Given the description of an element on the screen output the (x, y) to click on. 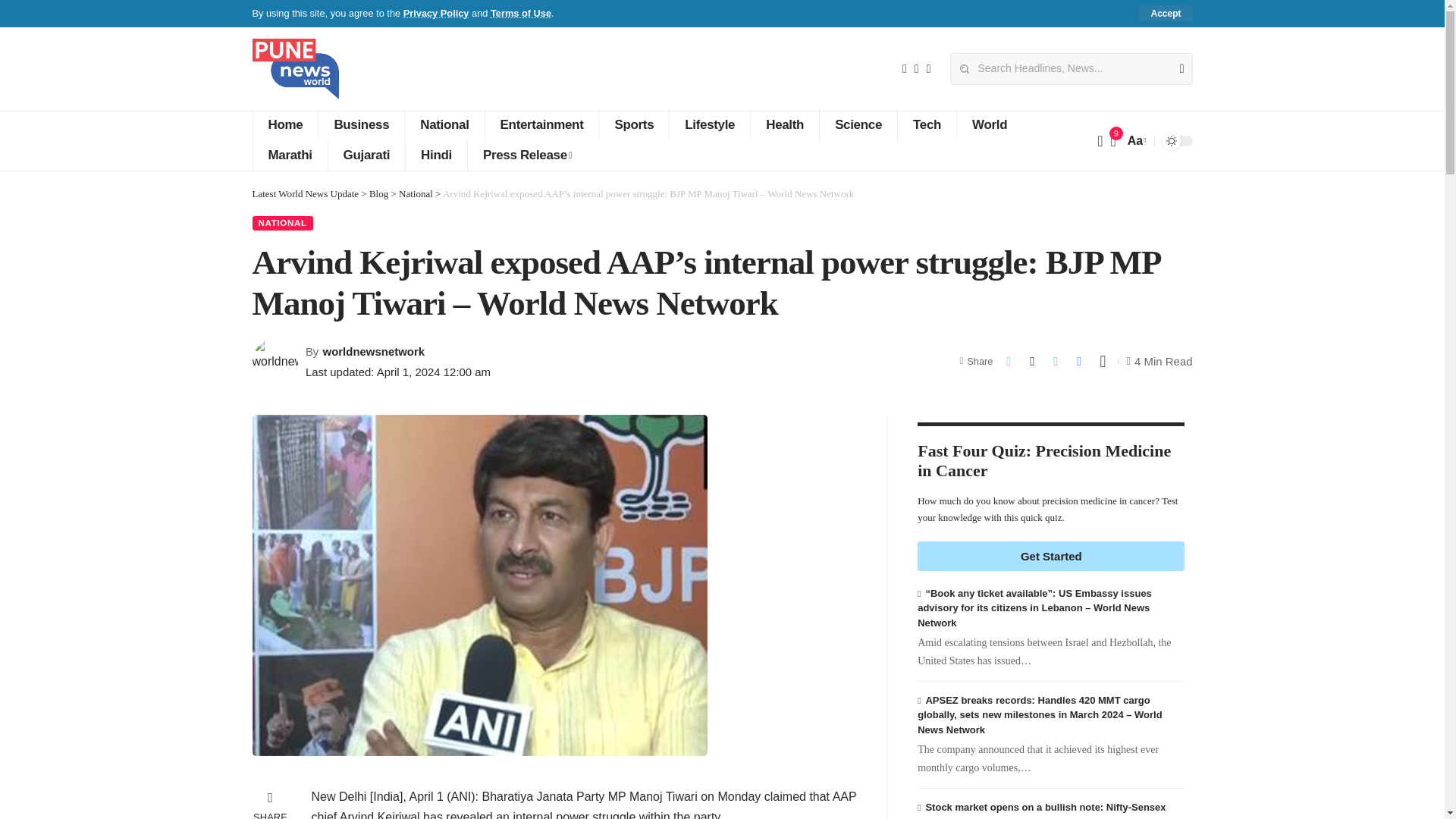
Go to Latest World News Update. (304, 193)
Hindi (435, 155)
Sports (633, 125)
Home (284, 125)
Entertainment (541, 125)
Accept (1165, 13)
Press Release (526, 155)
Search (1175, 69)
Go to Blog. (378, 193)
Latest World News Update (294, 68)
Go to the National Category archives. (415, 193)
Science (857, 125)
World (989, 125)
Business (360, 125)
Marathi (288, 155)
